Given the description of an element on the screen output the (x, y) to click on. 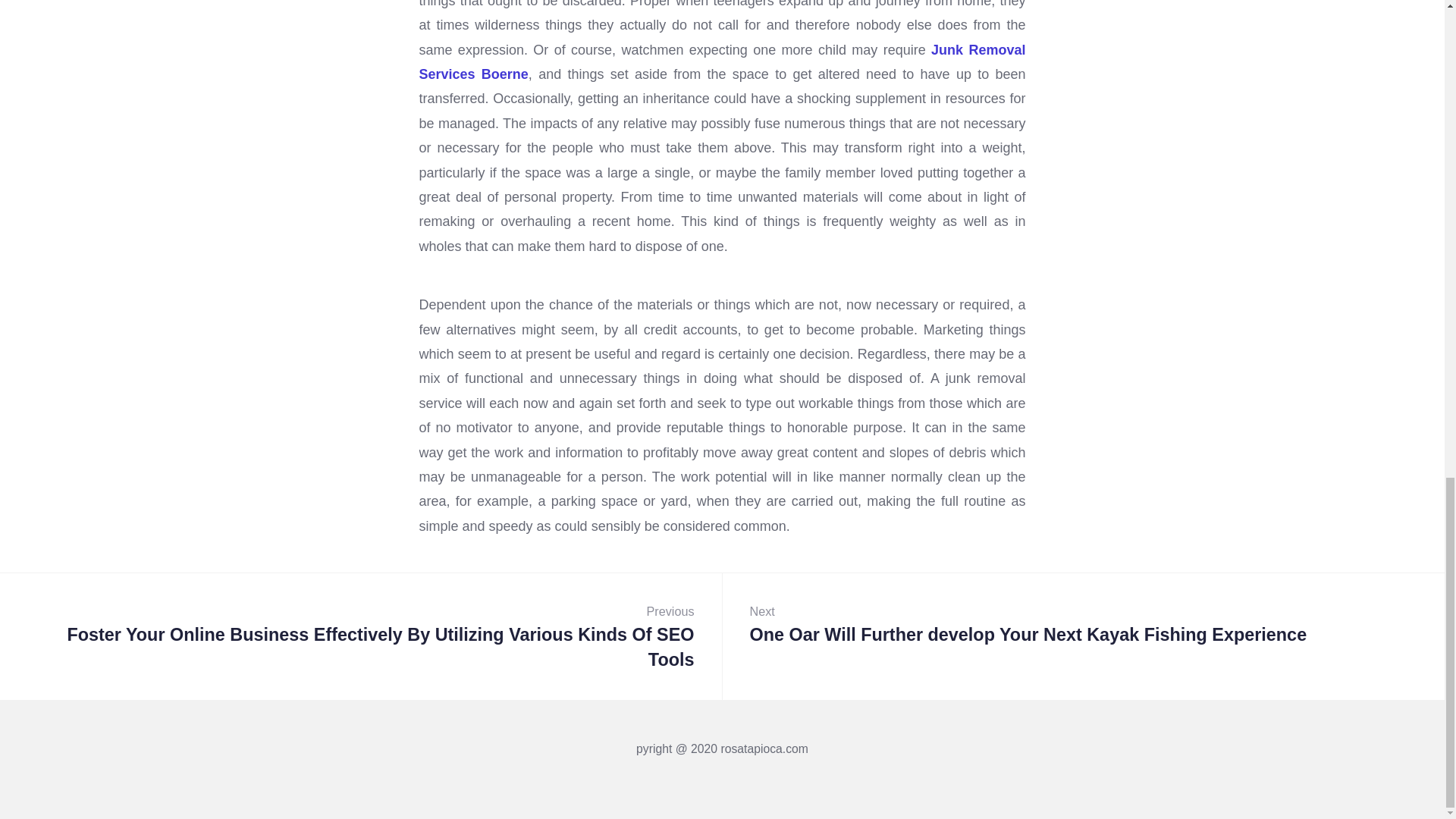
Junk Removal Services Boerne (722, 61)
